Given the description of an element on the screen output the (x, y) to click on. 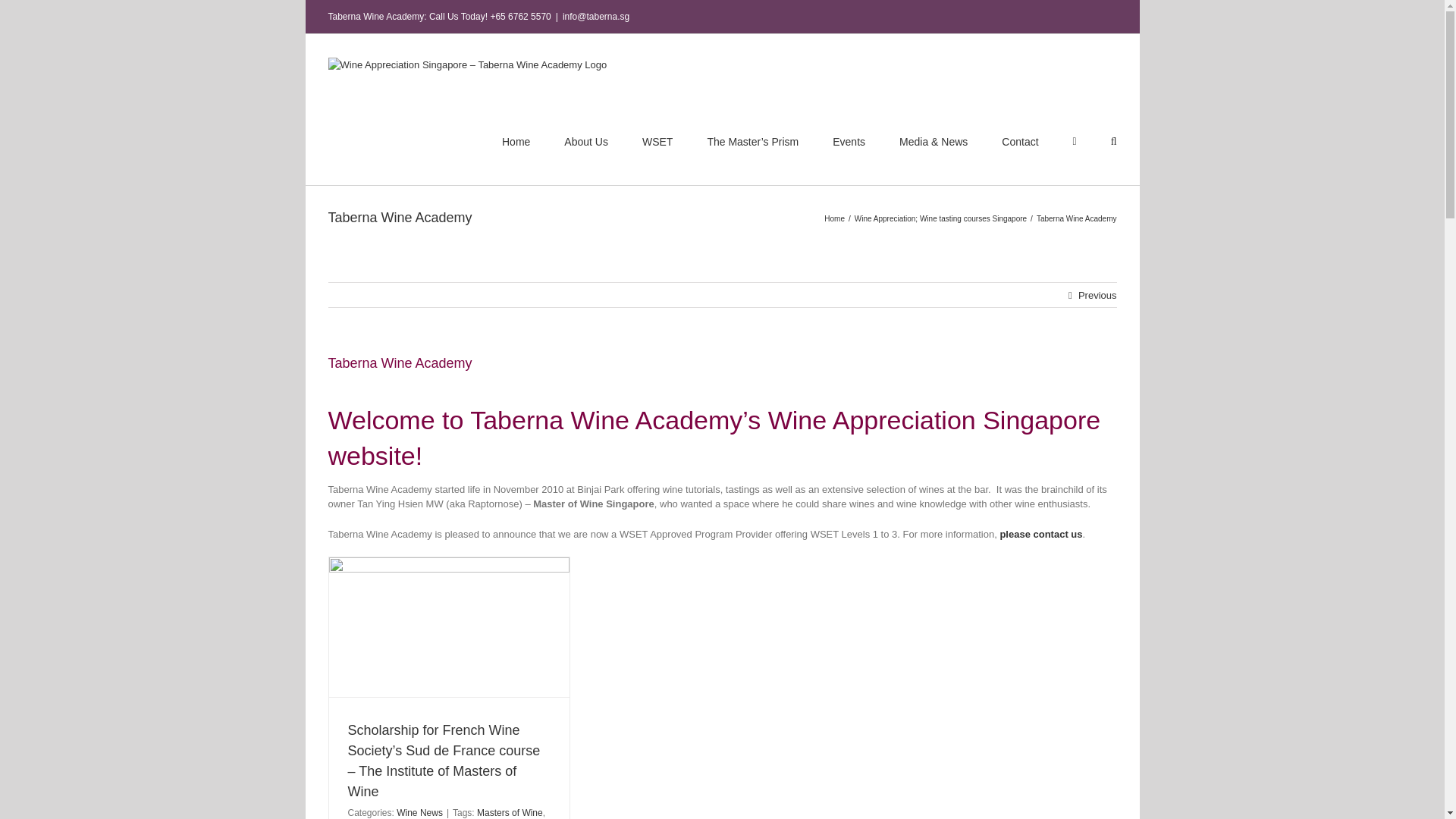
Home (834, 217)
Wine Appreciation; Wine tasting courses Singapore (940, 217)
Previous (1097, 294)
please contact us (1039, 533)
Masters of Wine (510, 812)
Wine News (419, 812)
